Given the description of an element on the screen output the (x, y) to click on. 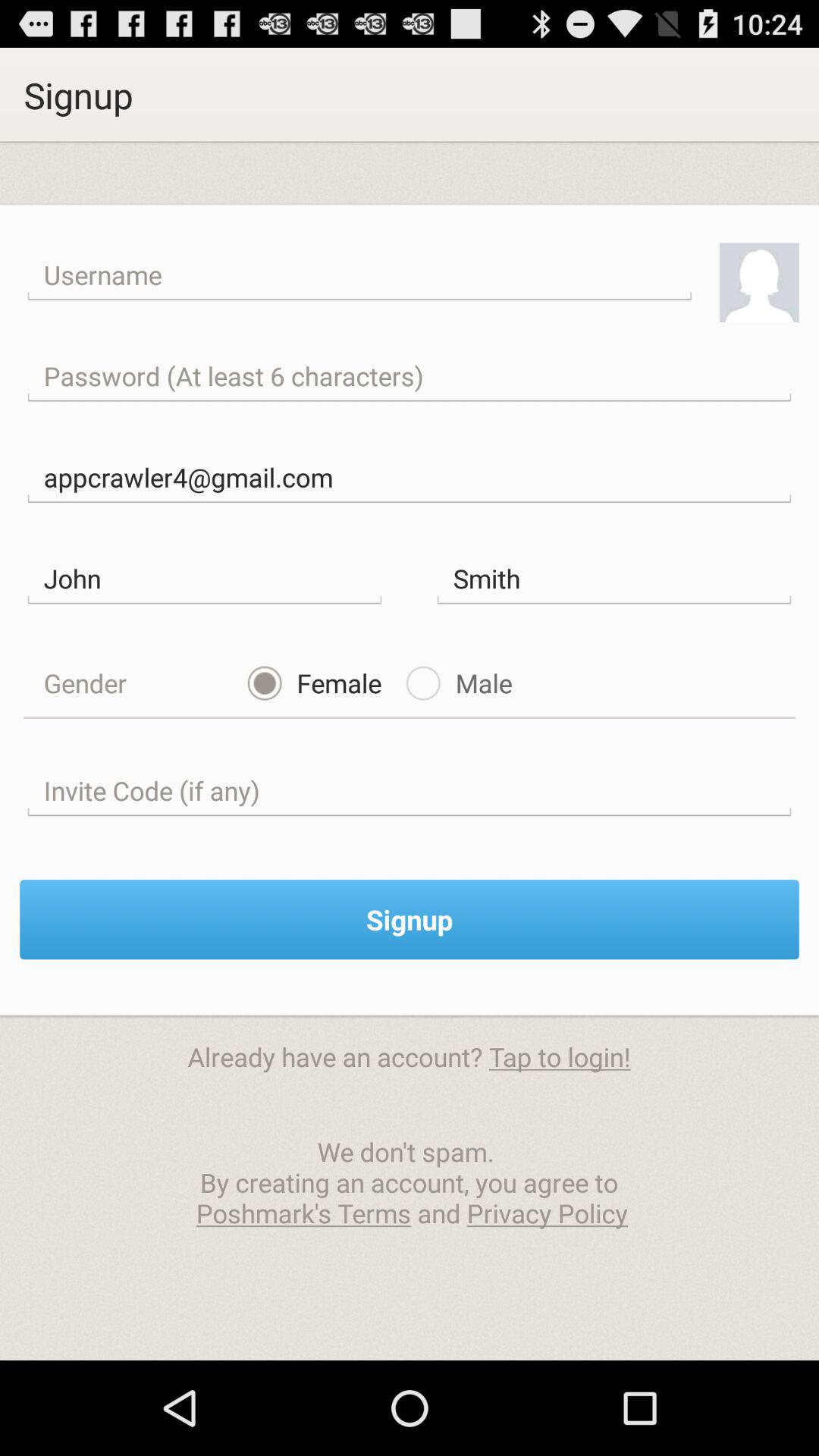
change profile picture (759, 282)
